Given the description of an element on the screen output the (x, y) to click on. 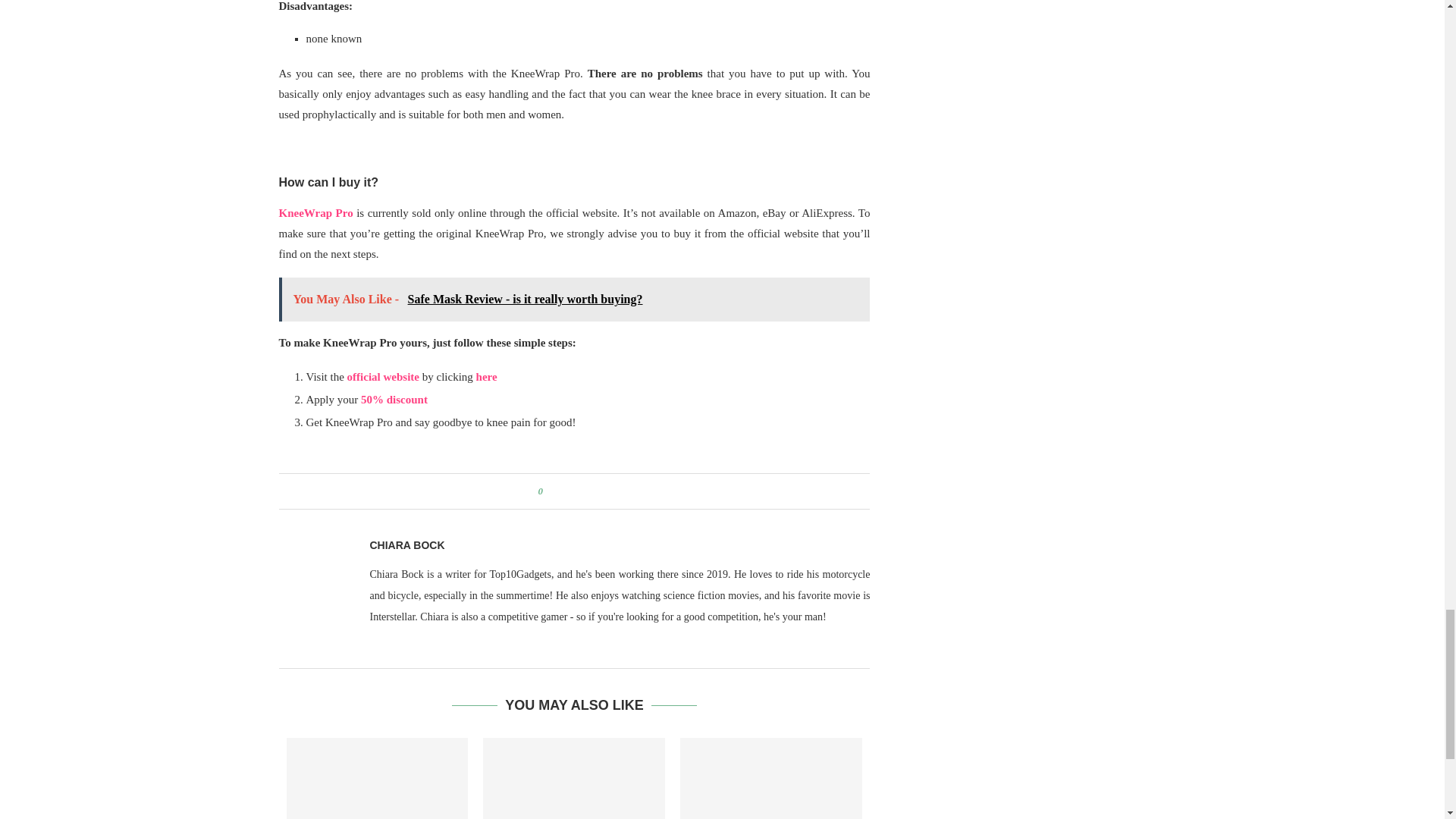
Like (548, 491)
KneeWrap Pro Review 2023 - Treat your Knee Pain Easily! 8 (574, 154)
KneeWrap Pro (316, 213)
Better Breathing Sport Review: Does It Really Work? (574, 778)
Author Chiara Bock (407, 545)
